Given the description of an element on the screen output the (x, y) to click on. 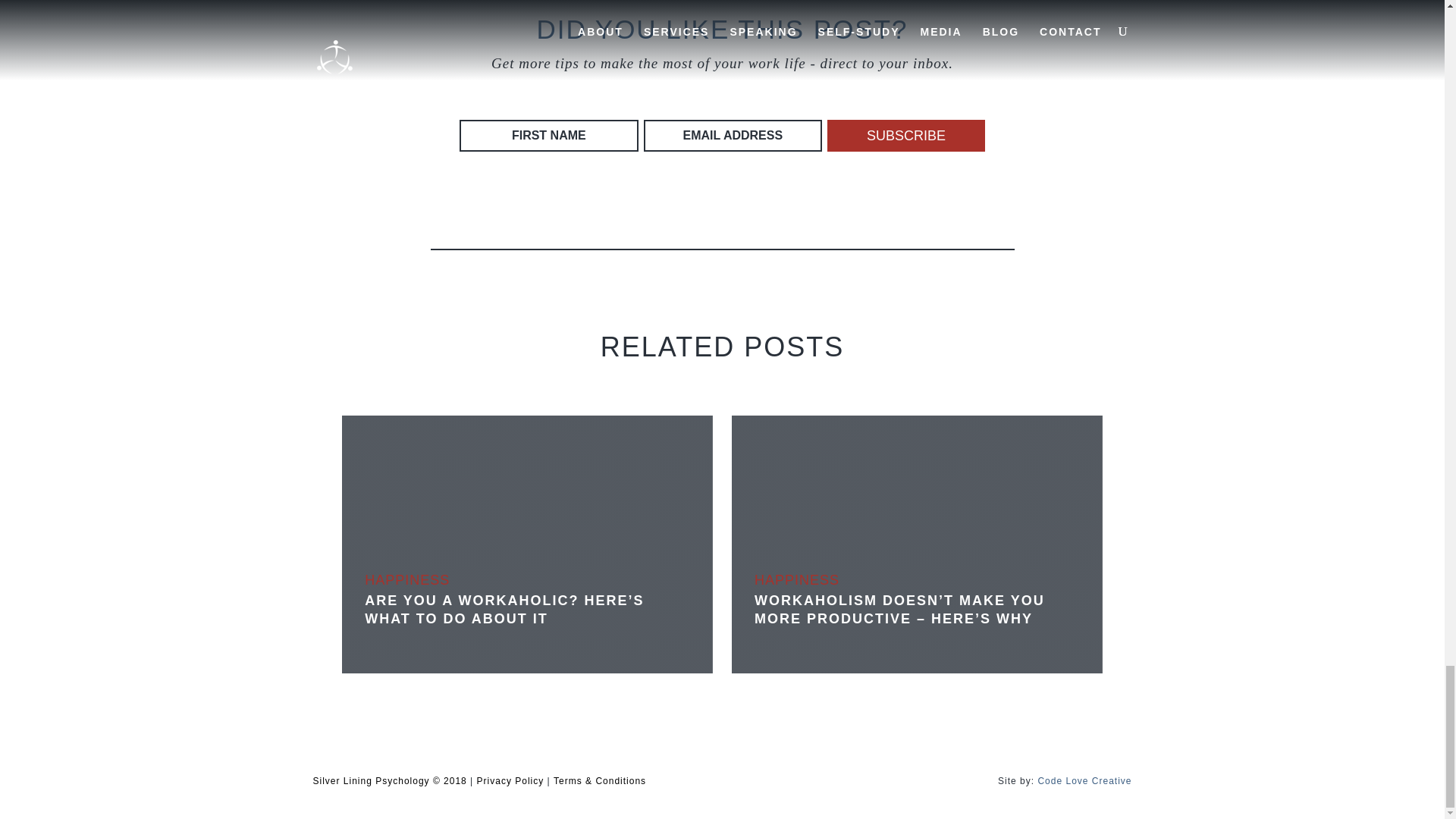
SUBSCRIBE (906, 135)
HAPPINESS (797, 580)
HAPPINESS (407, 580)
